Given the description of an element on the screen output the (x, y) to click on. 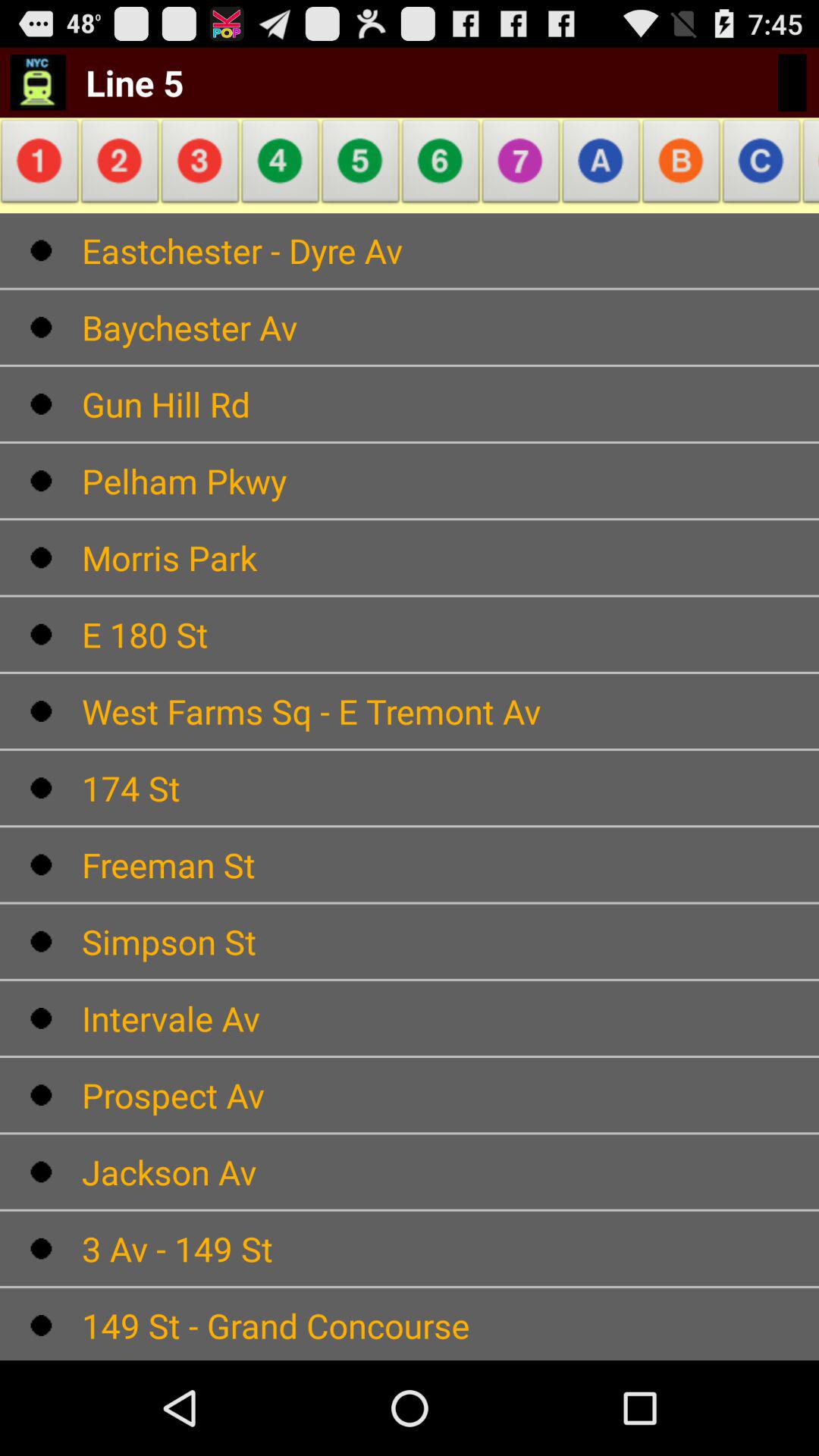
turn off icon above eastchester - dyre av icon (440, 165)
